Given the description of an element on the screen output the (x, y) to click on. 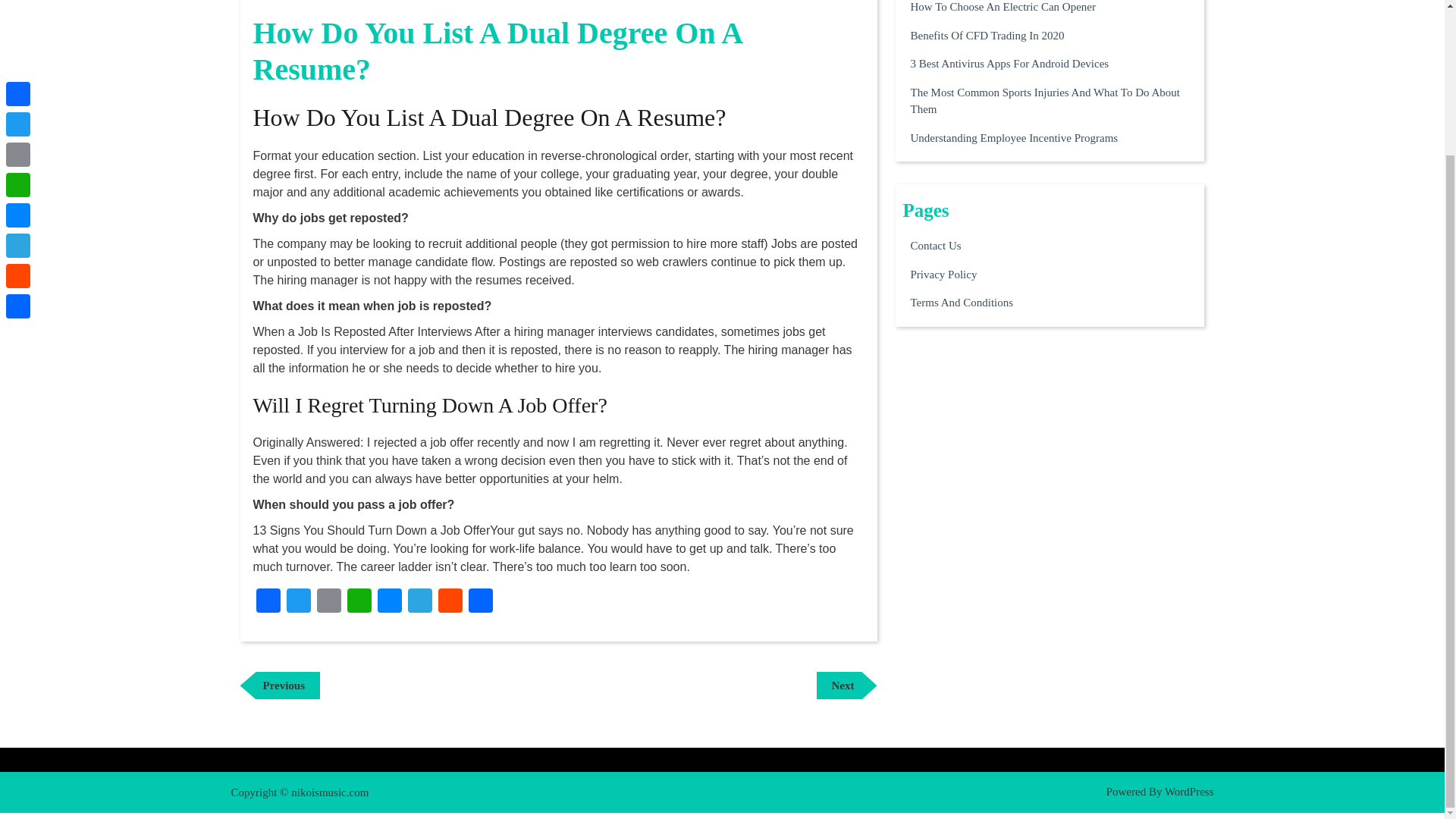
Messenger (280, 685)
WhatsApp (17, 33)
Reddit (358, 602)
WhatsApp (450, 602)
Facebook (358, 602)
Privacy Policy (268, 602)
3 Best Antivirus Apps For Android Devices (845, 685)
Reddit (943, 273)
Benefits Of CFD Trading In 2020 (1009, 63)
Reddit (17, 94)
Terms And Conditions (987, 35)
Share (450, 602)
Contact Us (961, 302)
